Given the description of an element on the screen output the (x, y) to click on. 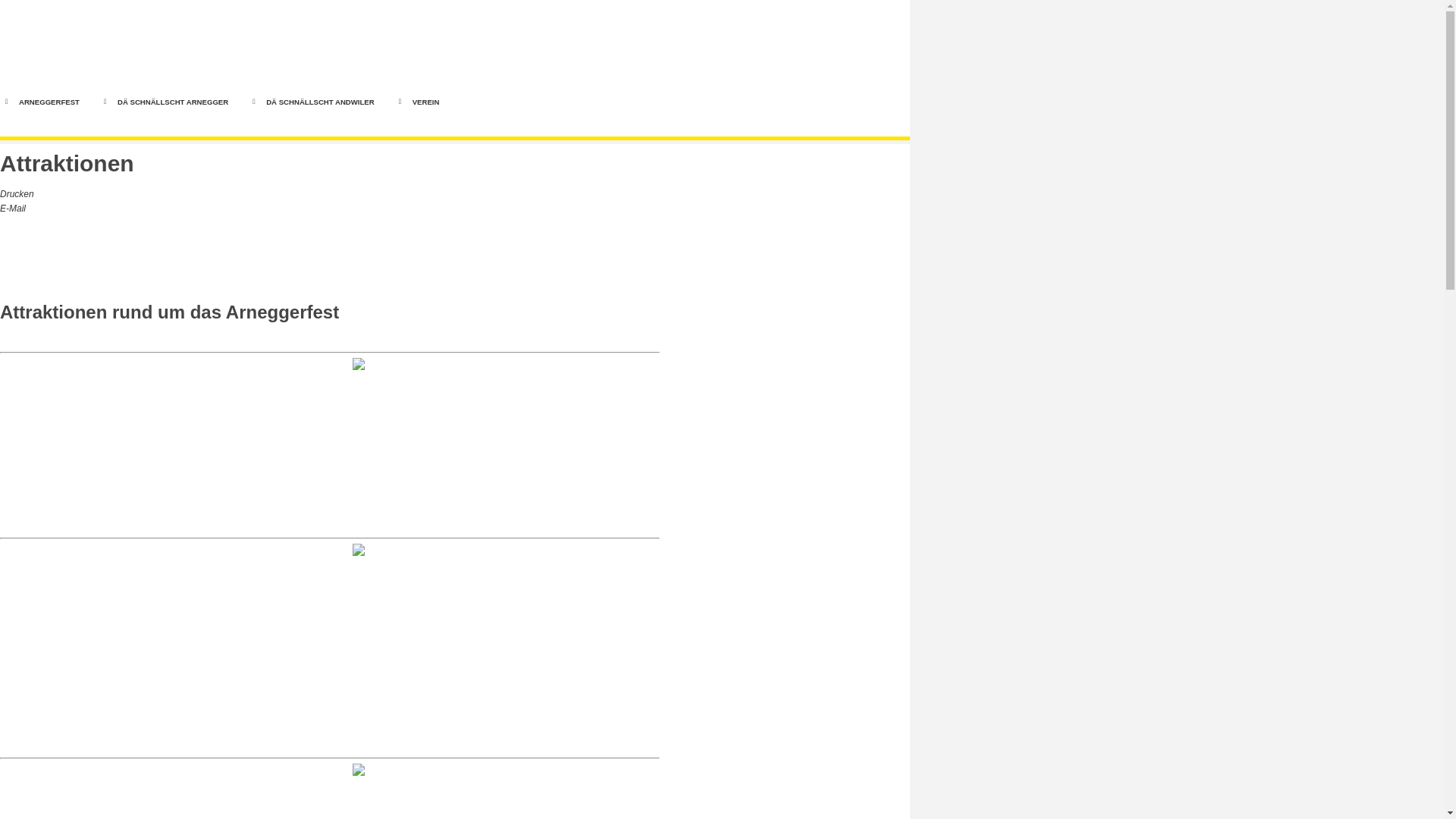
Drucken Element type: text (17, 193)
ARNEGGERFEST Element type: text (49, 102)
VEREIN Element type: text (425, 102)
E-Mail Element type: text (12, 208)
